Given the description of an element on the screen output the (x, y) to click on. 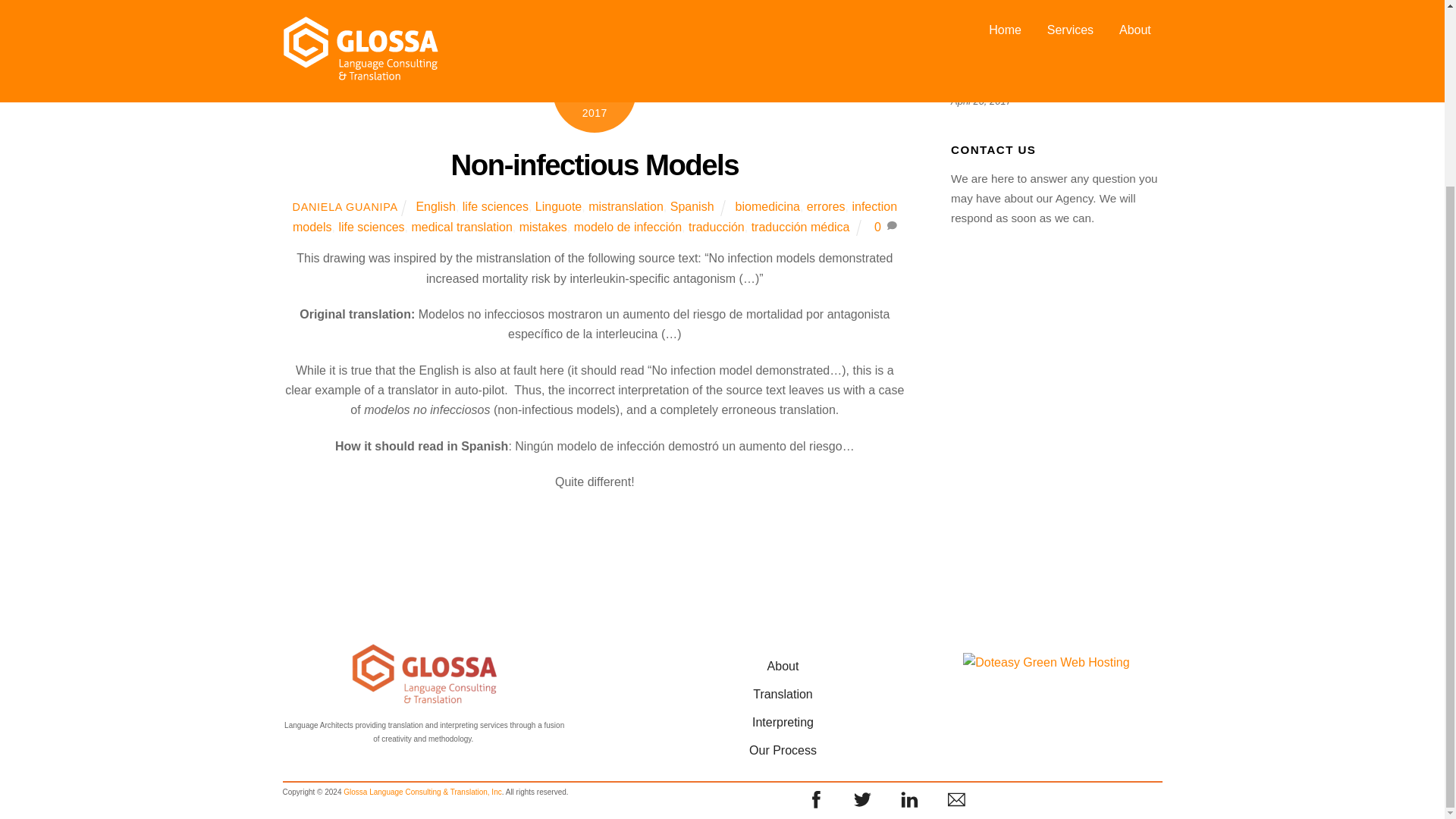
medical translation (461, 226)
MISTRANSLATION (689, 15)
Translation (782, 694)
Non-infectious Models (1055, 79)
Linguote (557, 205)
mistranslation (625, 205)
LIFE SCIENCES (513, 15)
English (434, 205)
life sciences (495, 205)
mistakes (543, 226)
ENGLISH (432, 15)
SPANISH (776, 15)
About (783, 666)
Intrigued by this green bean? Meet a porcelain gallbladder (1055, 18)
Green Bean (969, 21)
